Given the description of an element on the screen output the (x, y) to click on. 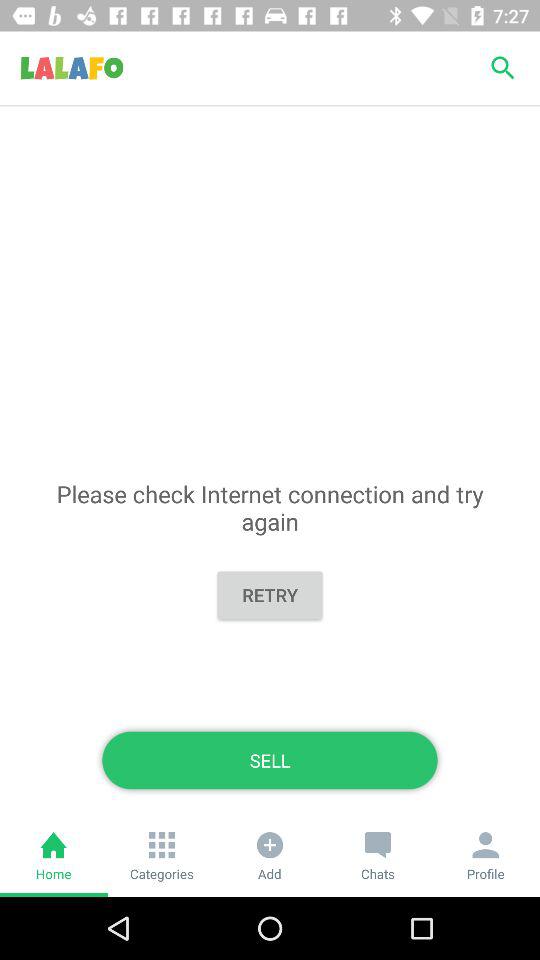
open item below retry icon (269, 760)
